Given the description of an element on the screen output the (x, y) to click on. 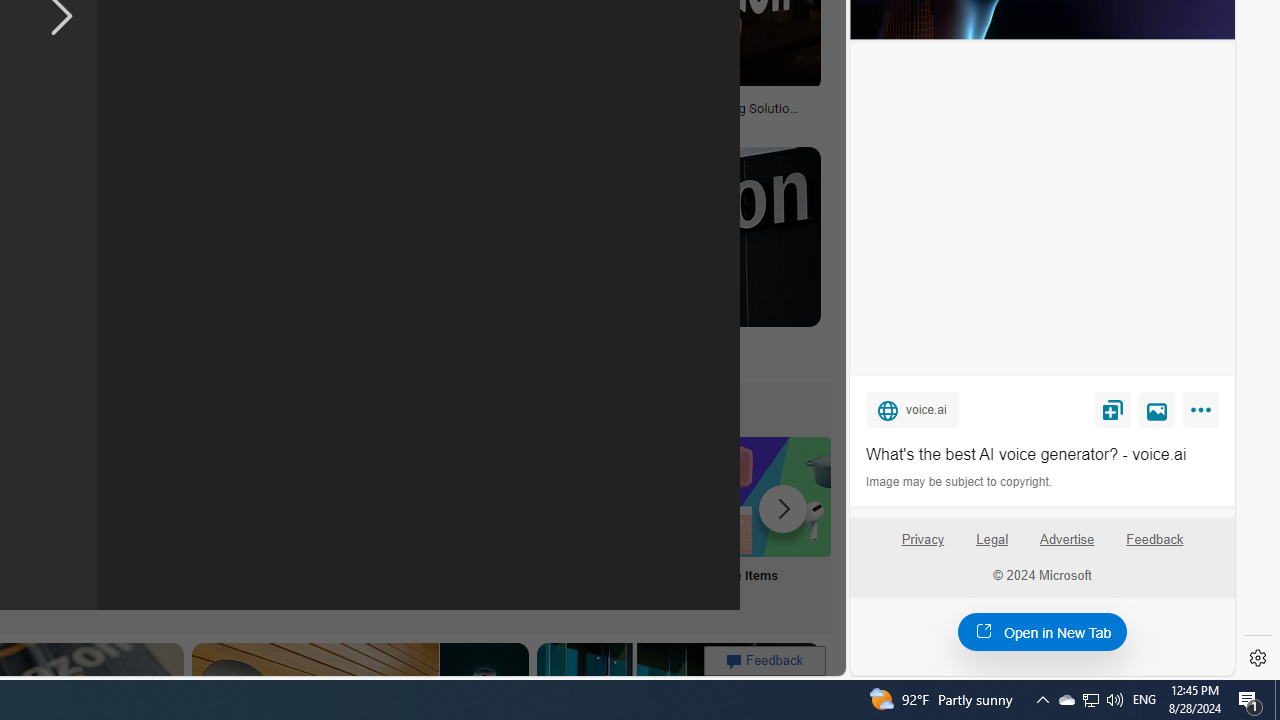
Mini TV (116, 521)
Legal (991, 539)
Amazon Prime Shopping Online (380, 496)
More (1204, 413)
voice.ai (912, 409)
Scroll more suggestions right (783, 508)
Amazon Sale Items Sale Items (775, 521)
protothema.gr (662, 359)
Amazon (536, 343)
Image result for amazon (662, 236)
Amazon Visa Card Login Visa Card Login (643, 521)
